Given the description of an element on the screen output the (x, y) to click on. 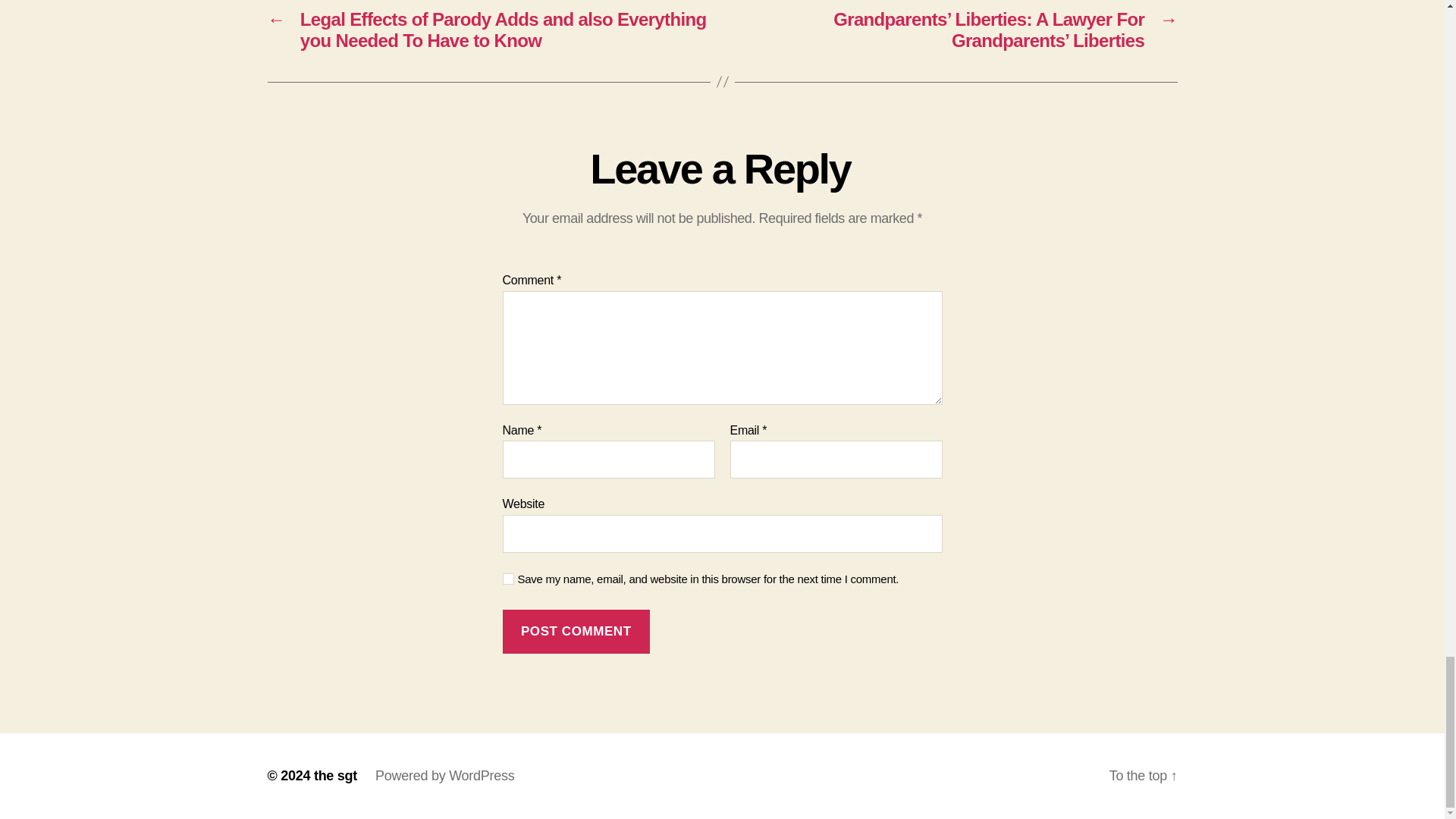
Post Comment (575, 631)
yes (507, 578)
Powered by WordPress (444, 775)
Post Comment (575, 631)
the sgt (335, 775)
